Given the description of an element on the screen output the (x, y) to click on. 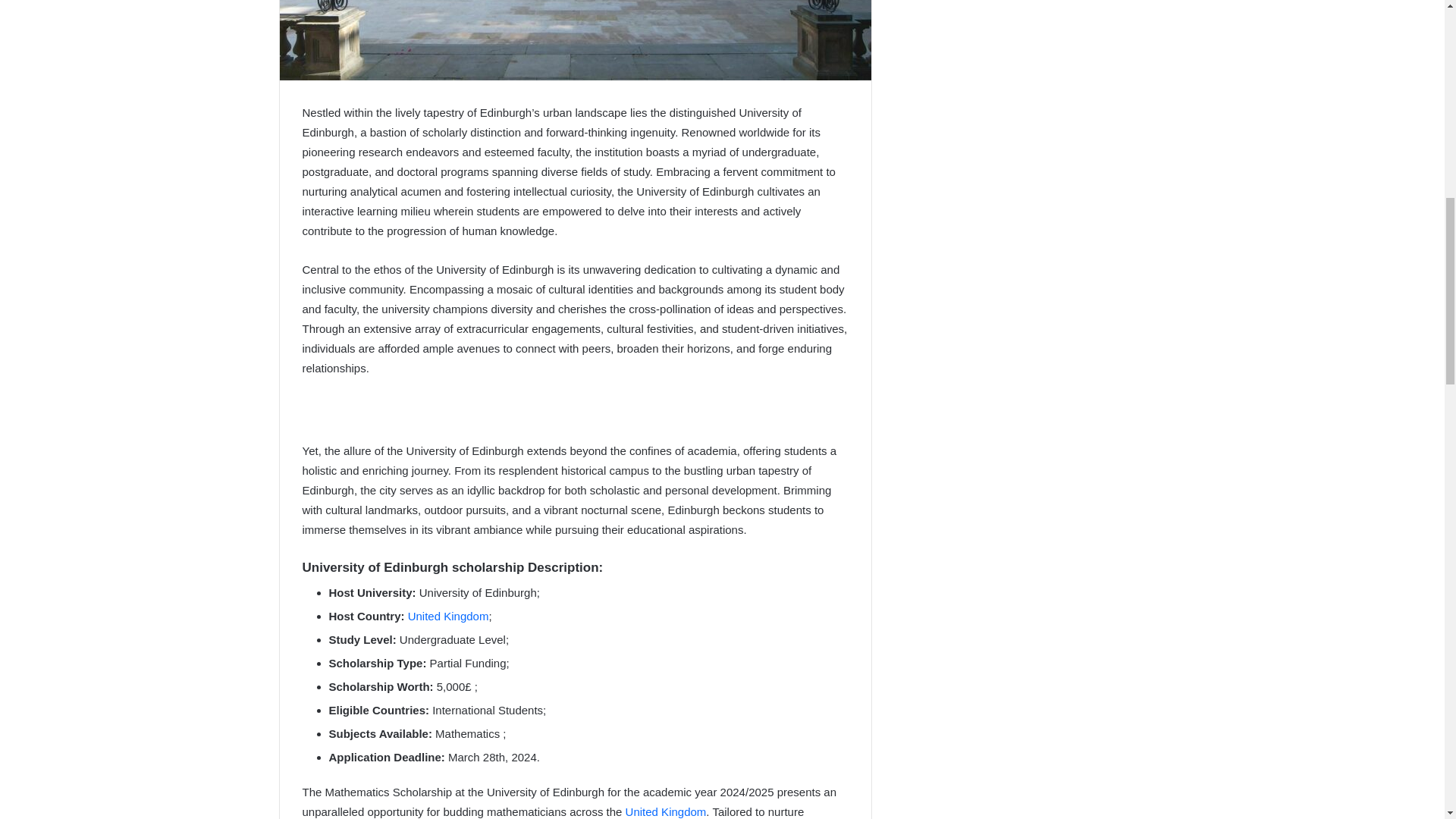
United Kingdom (448, 615)
United Kingdom (666, 811)
